Given the description of an element on the screen output the (x, y) to click on. 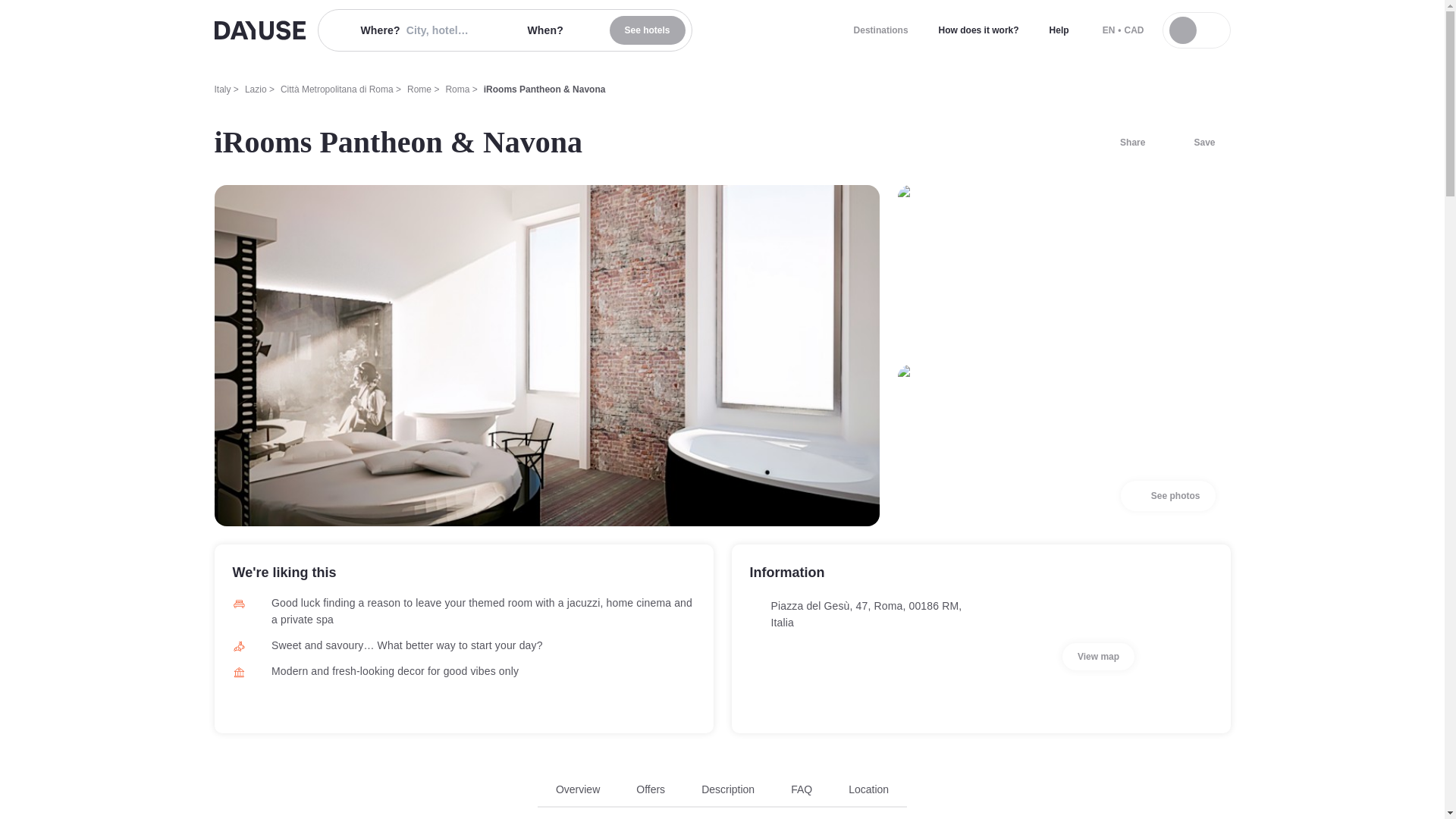
Destinations (880, 30)
Italy (222, 89)
Description (727, 789)
Lazio (255, 89)
Dayuse (259, 29)
FAQ (801, 789)
Rome (418, 89)
See photos (1168, 495)
Overview (577, 789)
Share (1123, 142)
View map (1098, 656)
Save (1195, 142)
How does it work? (978, 30)
Offers (650, 789)
